Given the description of an element on the screen output the (x, y) to click on. 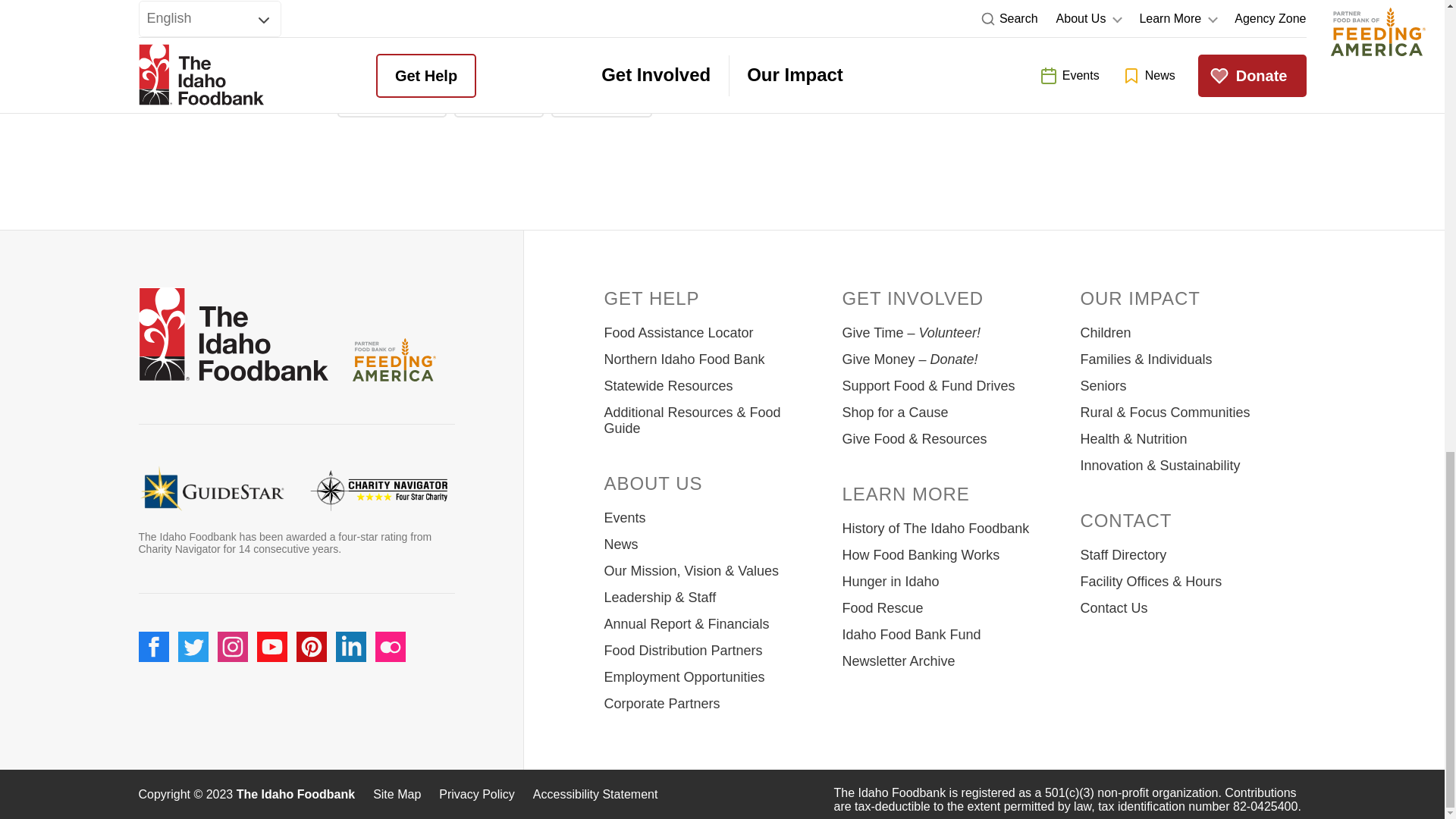
linkedin (349, 646)
facebook (153, 646)
twitter (192, 646)
Go to Home page (232, 336)
Share: Facebook (390, 99)
instagram (231, 646)
pinterest (310, 646)
Share: Twitter (498, 99)
flickr (389, 646)
youtube (271, 646)
